Given the description of an element on the screen output the (x, y) to click on. 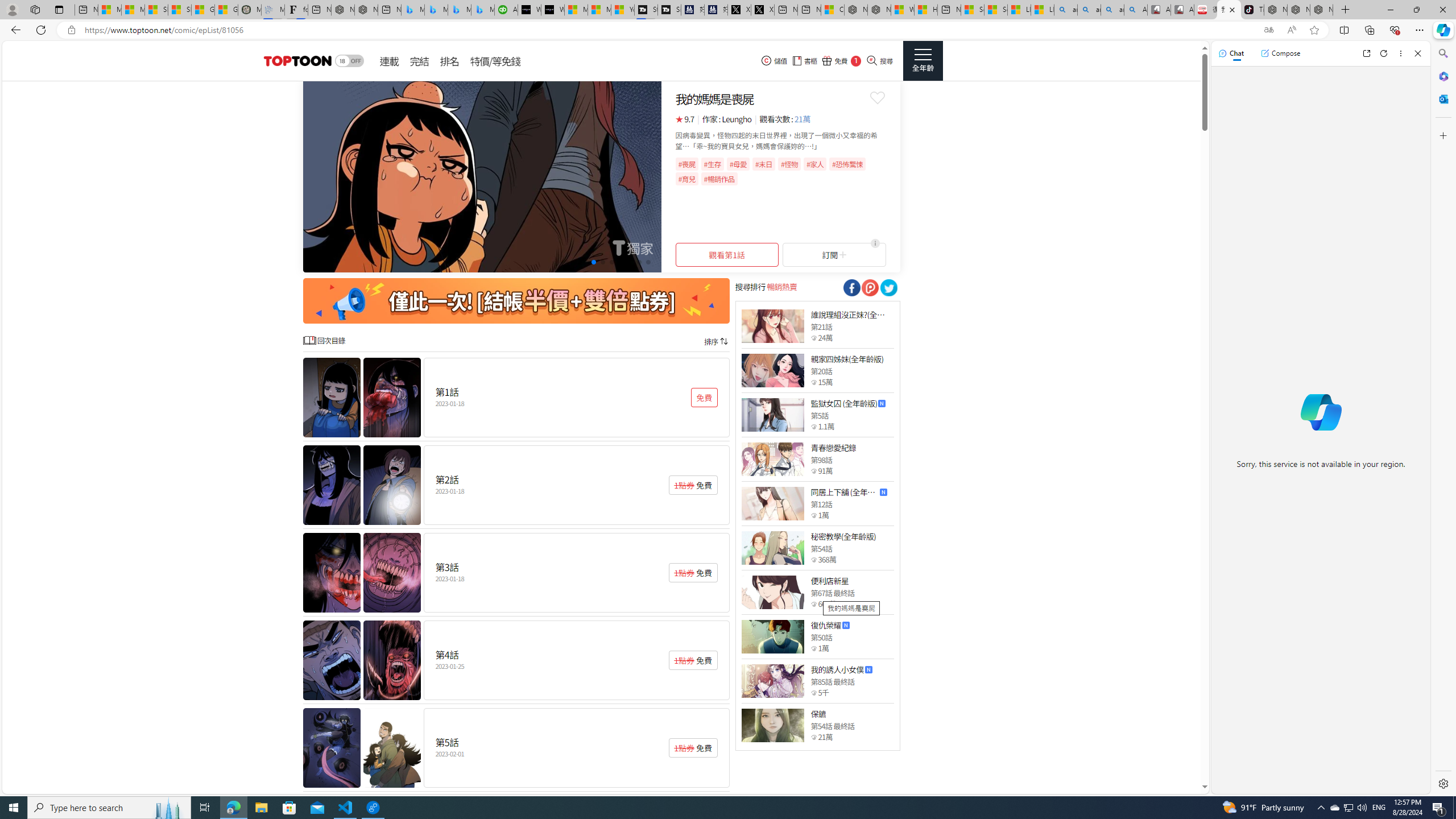
amazon - Search Images (1112, 9)
Manatee Mortality Statistics | FWC (249, 9)
Huge shark washes ashore at New York City beach | Watch (926, 9)
Class: swiper-slide swiper-slide-active (481, 176)
View site information (70, 29)
Close (1417, 53)
More options (1401, 53)
